Given the description of an element on the screen output the (x, y) to click on. 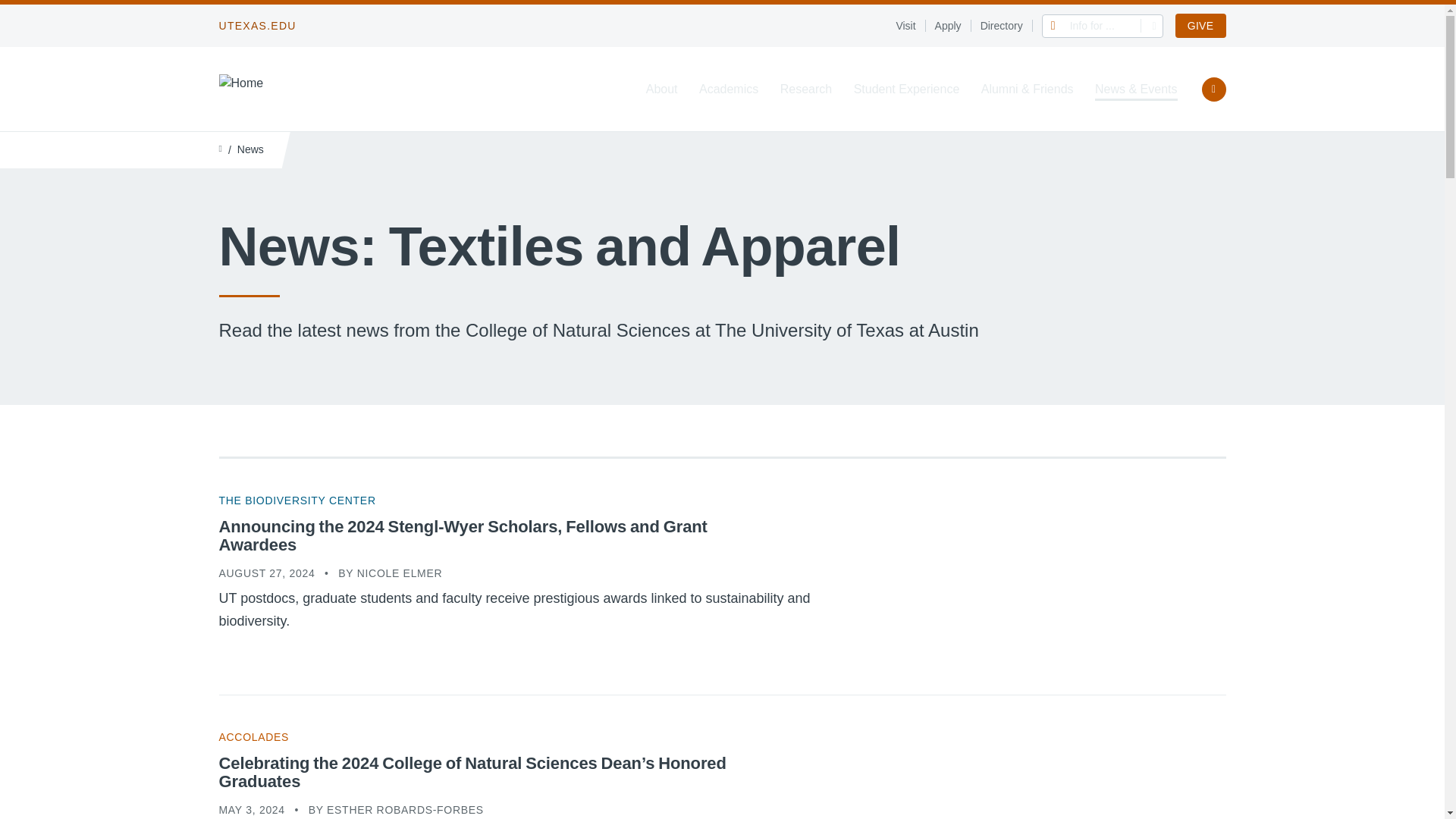
Directory (1005, 25)
Student Experience (906, 90)
Visit (909, 25)
Apply (952, 25)
About (662, 90)
GIVE (1199, 25)
UTEXAS.EDU (256, 26)
Academics (728, 90)
Research (805, 90)
Info for ... (1102, 24)
